Given the description of an element on the screen output the (x, y) to click on. 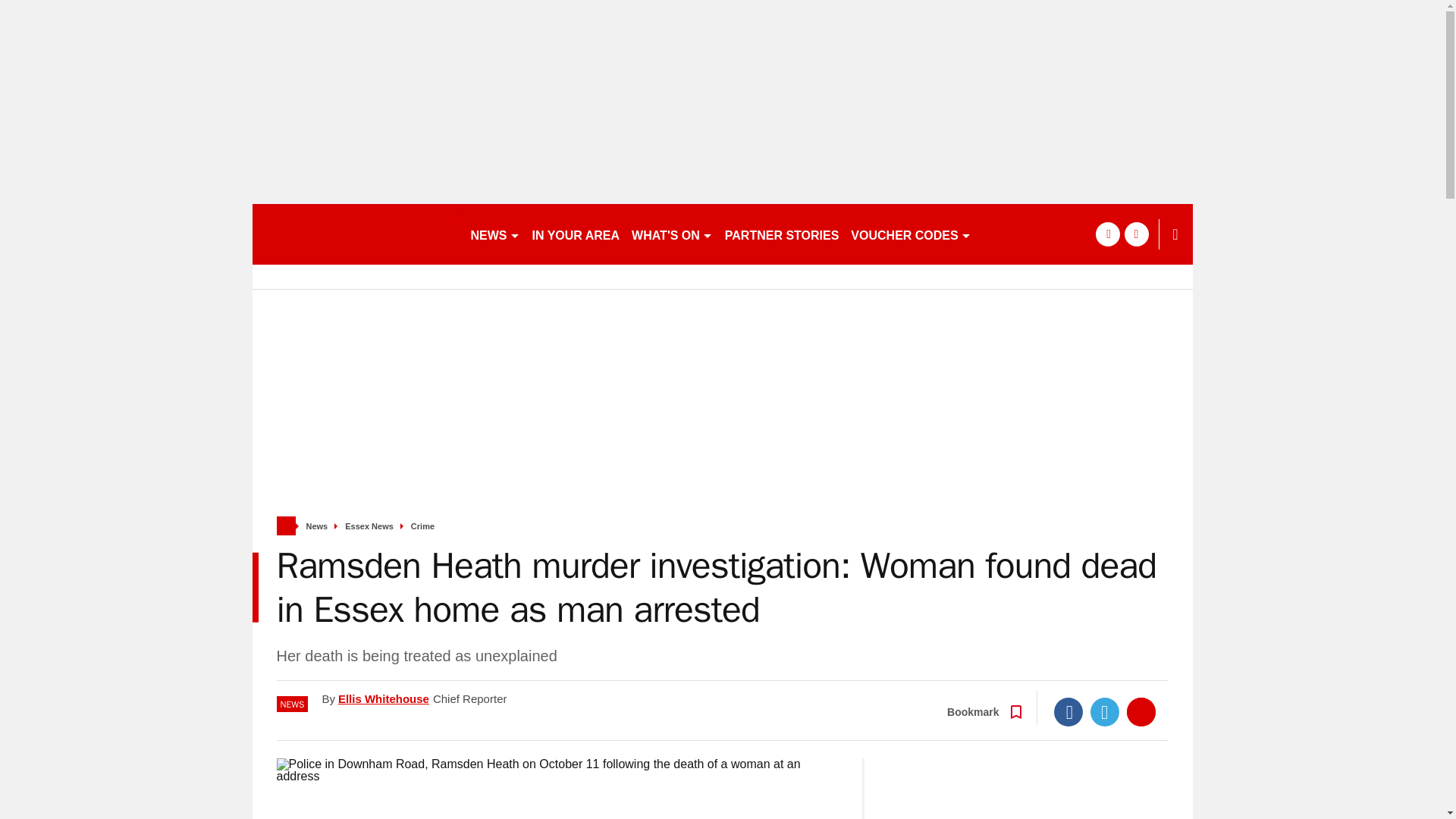
VOUCHER CODES (910, 233)
NEWS (494, 233)
WHAT'S ON (672, 233)
IN YOUR AREA (575, 233)
Twitter (1104, 711)
PARTNER STORIES (782, 233)
essexlive (354, 233)
facebook (1106, 233)
Facebook (1068, 711)
twitter (1136, 233)
